Given the description of an element on the screen output the (x, y) to click on. 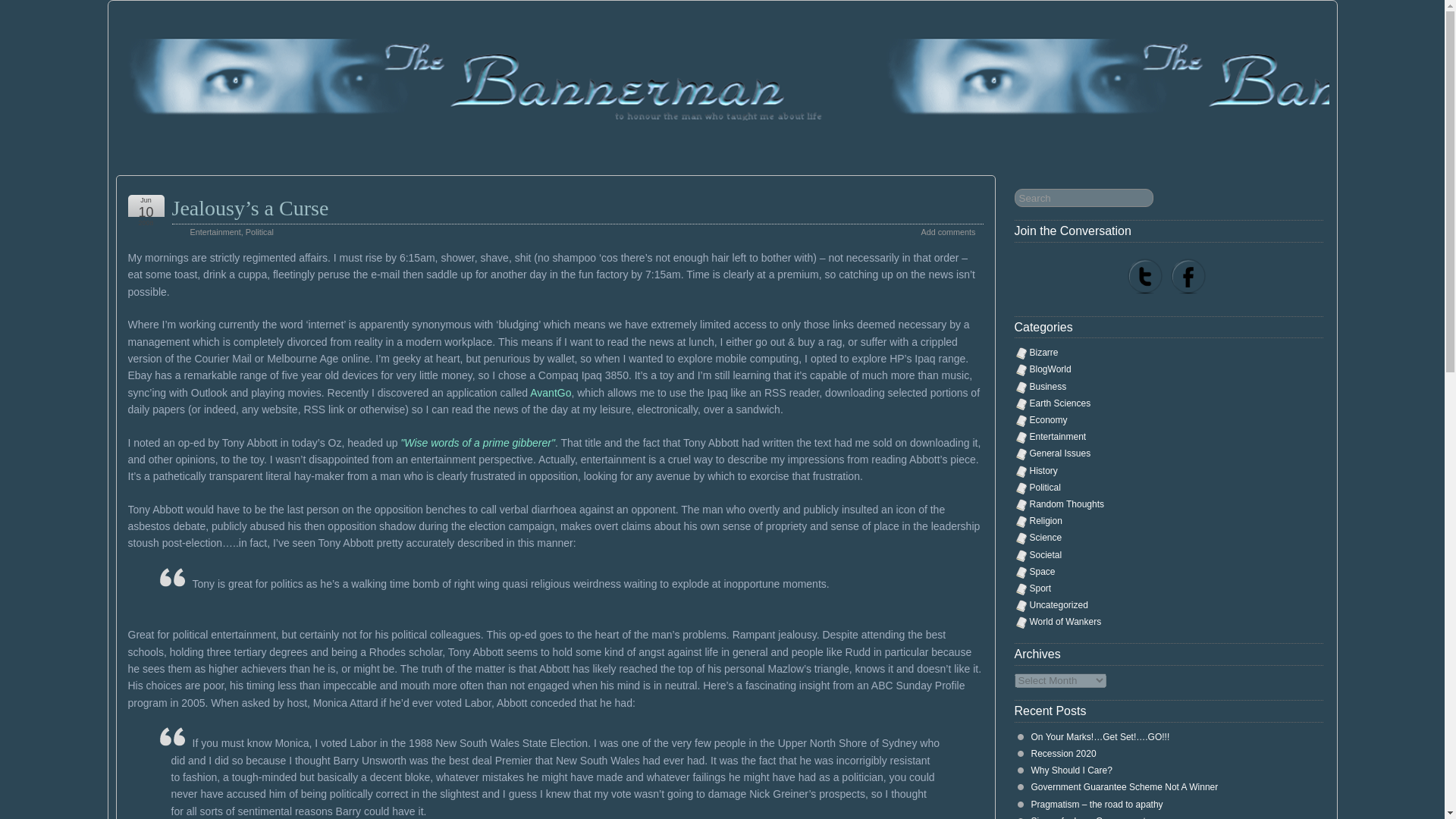
Entertainment (1057, 436)
Business (1048, 386)
Political (259, 231)
Add comments (947, 231)
Economy (1048, 419)
Twitter (1144, 277)
Facebook (1188, 277)
BlogWorld (1050, 368)
Earth Sciences (1059, 403)
Entertainment (214, 231)
